Given the description of an element on the screen output the (x, y) to click on. 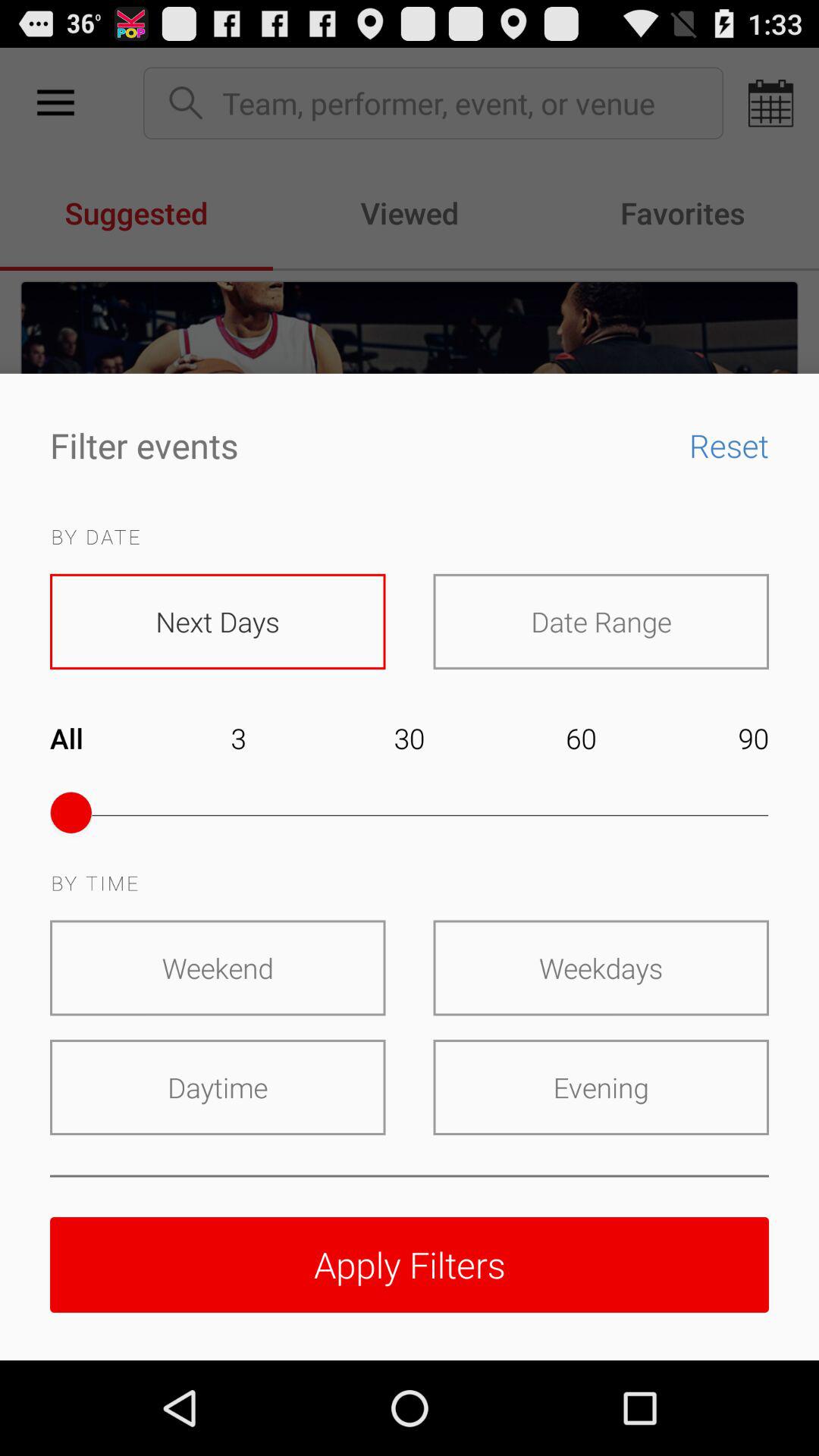
swipe to weekdays (600, 967)
